Given the description of an element on the screen output the (x, y) to click on. 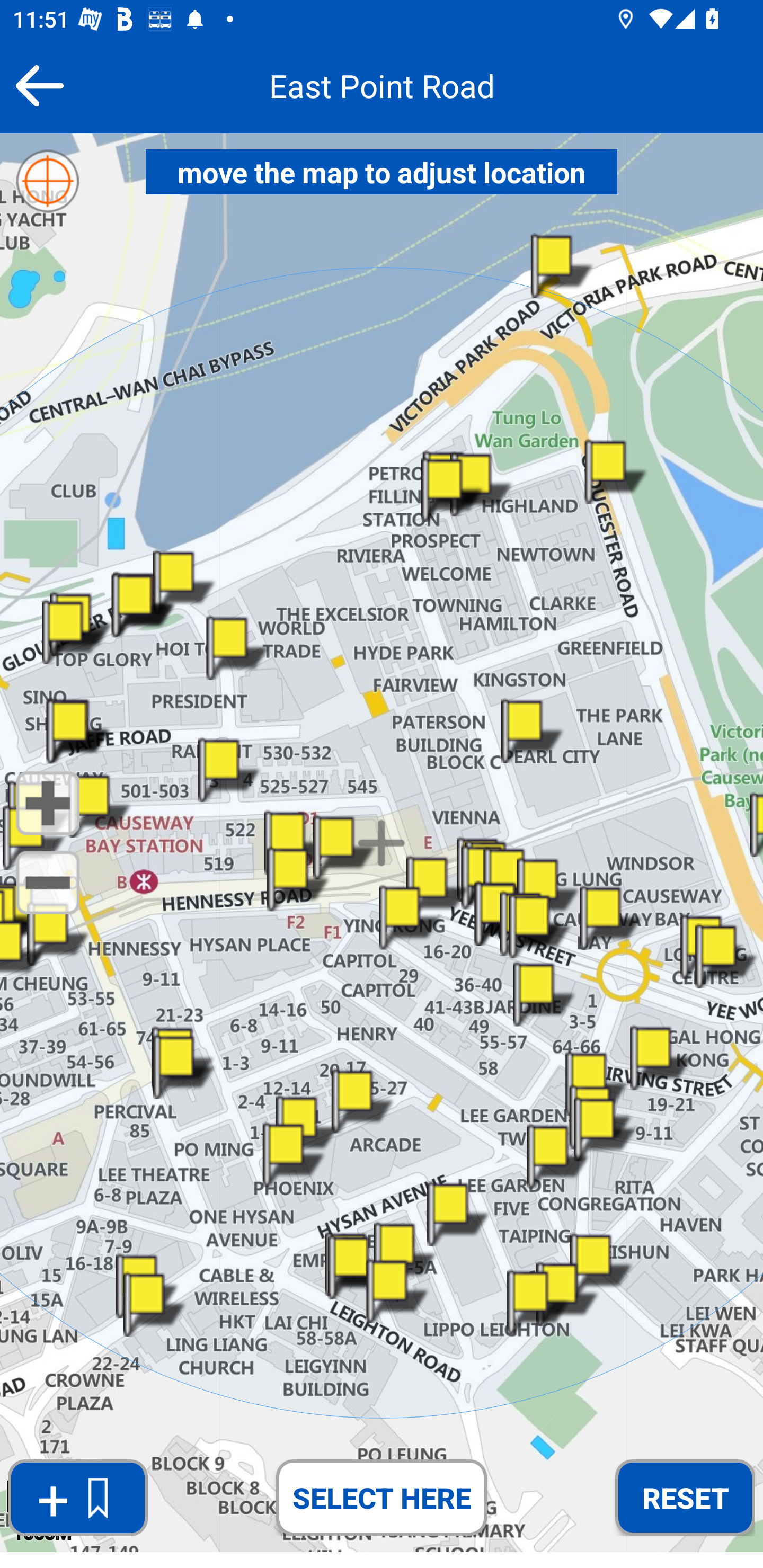
Back (39, 85)
Add bookmark (77, 1497)
SELECT HERE (381, 1497)
RESET (684, 1497)
